Given the description of an element on the screen output the (x, y) to click on. 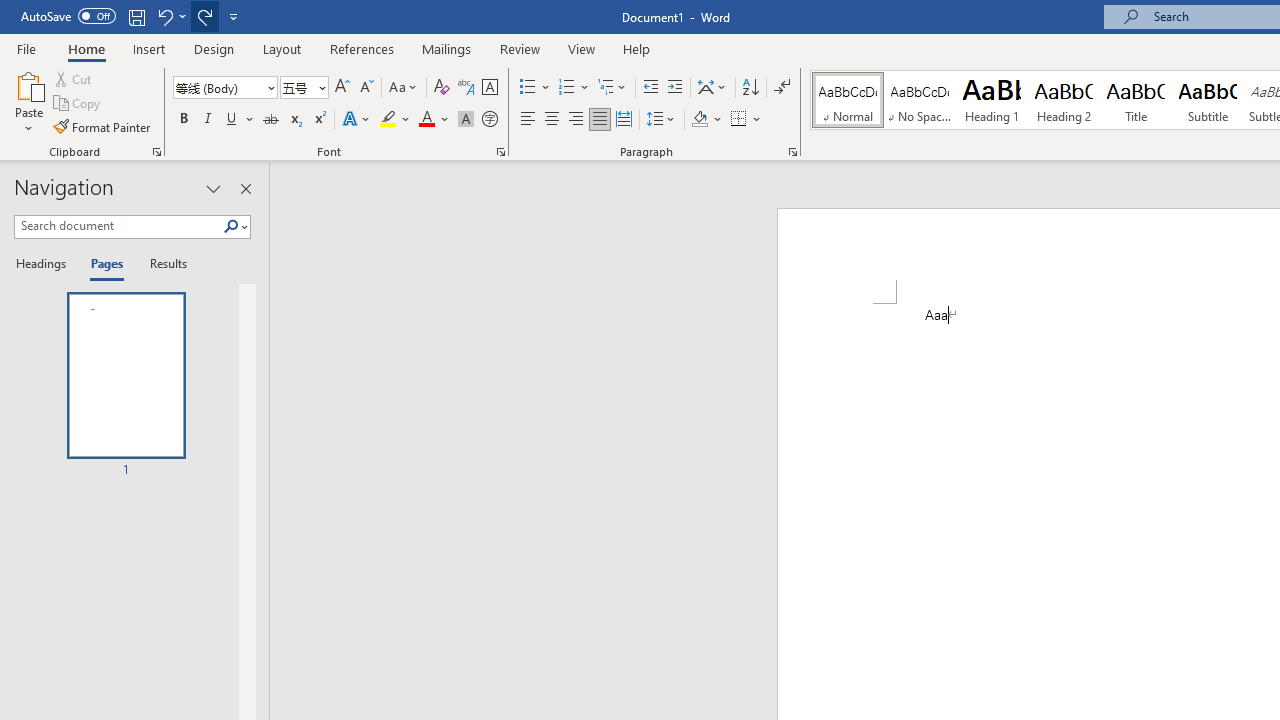
Paragraph... (792, 151)
Design (214, 48)
Center (552, 119)
Change Case (404, 87)
Help (637, 48)
Italic (207, 119)
Clear Formatting (442, 87)
Class: NetUIImage (231, 226)
Home (86, 48)
Close pane (246, 188)
Underline (239, 119)
Search document (118, 226)
Results (161, 264)
Bullets (527, 87)
